Given the description of an element on the screen output the (x, y) to click on. 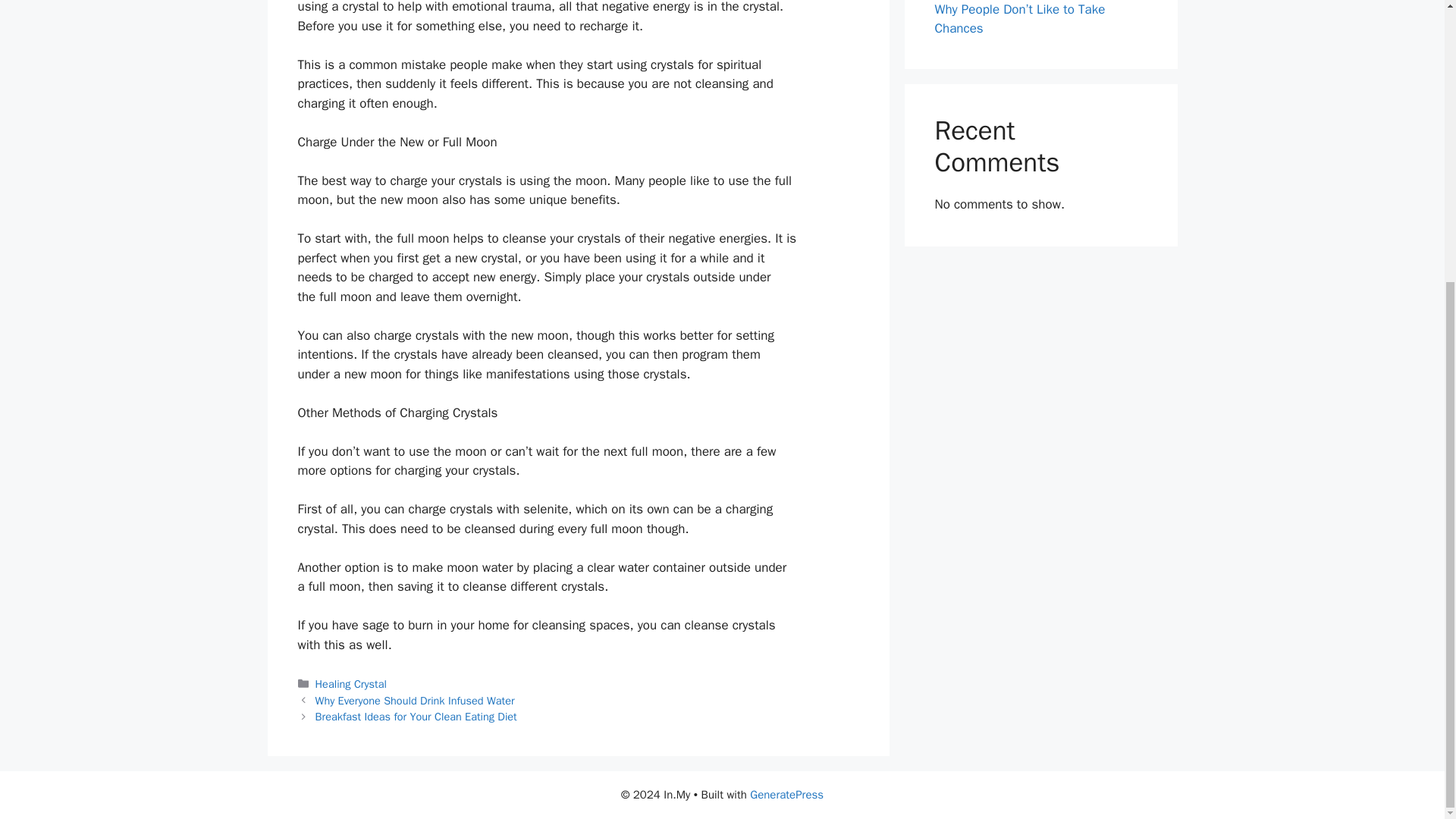
GeneratePress (786, 794)
Why Everyone Should Drink Infused Water (415, 700)
Healing Crystal (351, 684)
Breakfast Ideas for Your Clean Eating Diet (415, 716)
